Given the description of an element on the screen output the (x, y) to click on. 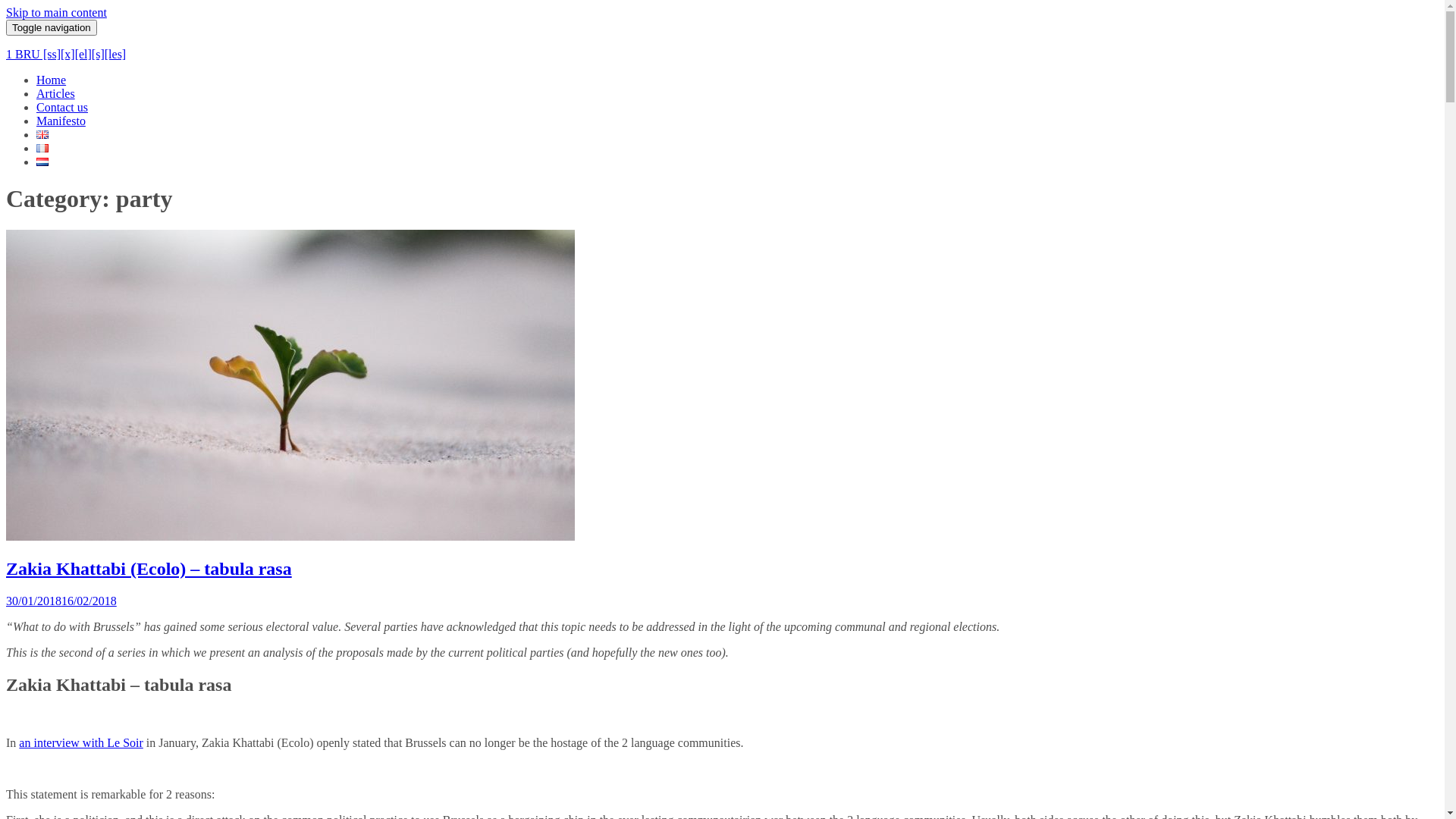
Home Element type: text (50, 79)
Toggle navigation Element type: text (51, 27)
Skip to main content Element type: text (56, 12)
an interview with Le Soir Element type: text (80, 741)
Articles Element type: text (55, 93)
Manifesto Element type: text (60, 120)
English Element type: hover (42, 134)
Nederlands Element type: hover (42, 161)
1 BRU [ss][x][el][s][les] Element type: text (65, 53)
30/01/201816/02/2018 Element type: text (61, 600)
Contact us Element type: text (61, 106)
